Given the description of an element on the screen output the (x, y) to click on. 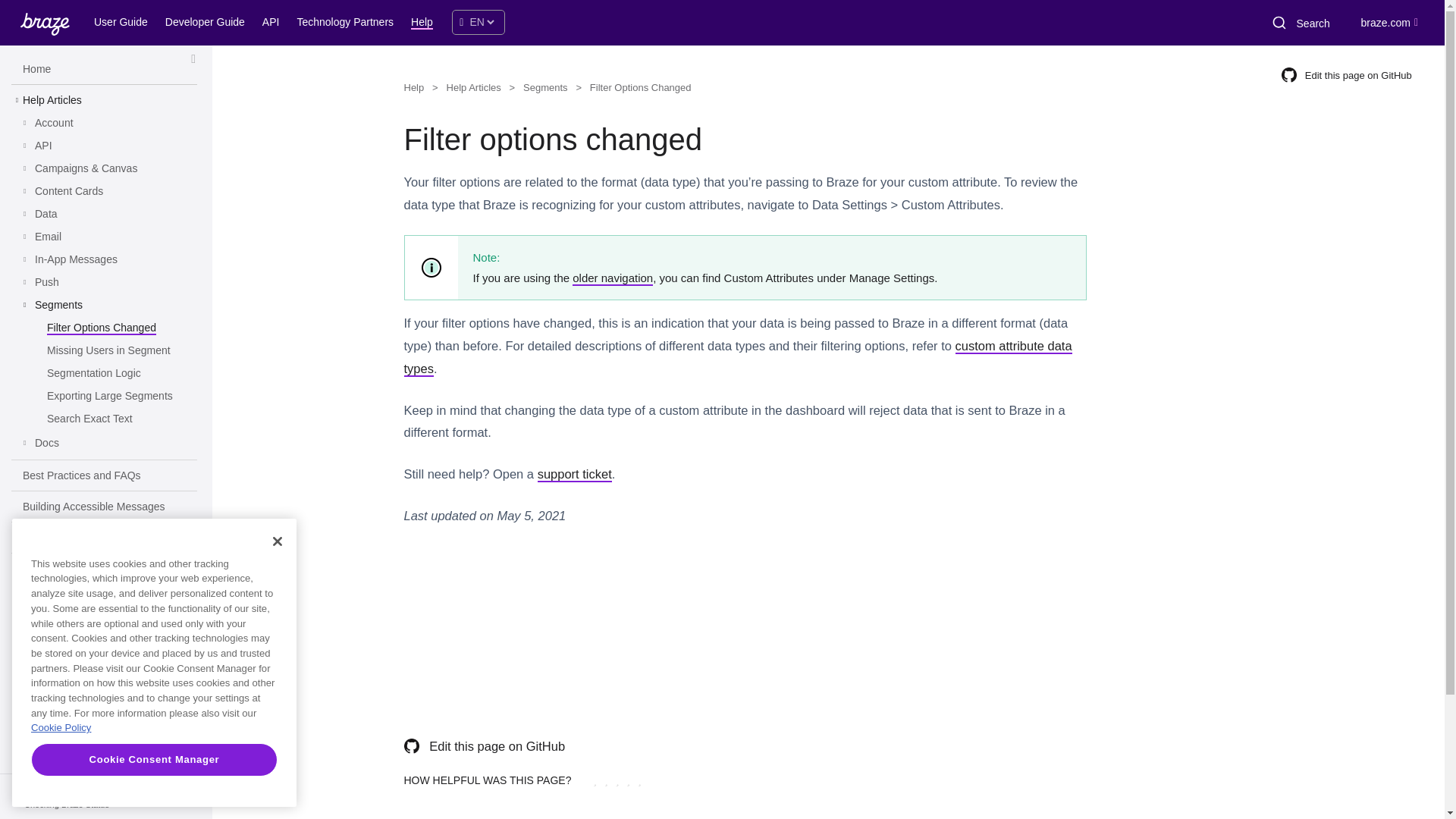
braze.com (1389, 22)
Submit (1277, 23)
Somewhat Helpful (617, 780)
Help (424, 24)
Account (54, 123)
User Guide (122, 24)
API (273, 24)
API (43, 146)
Technology Partners (346, 24)
Home (36, 69)
Very Unhelpful (594, 780)
Helpful (628, 780)
Very Helpful (639, 780)
Developer Guide (207, 24)
Help Articles (52, 100)
